Given the description of an element on the screen output the (x, y) to click on. 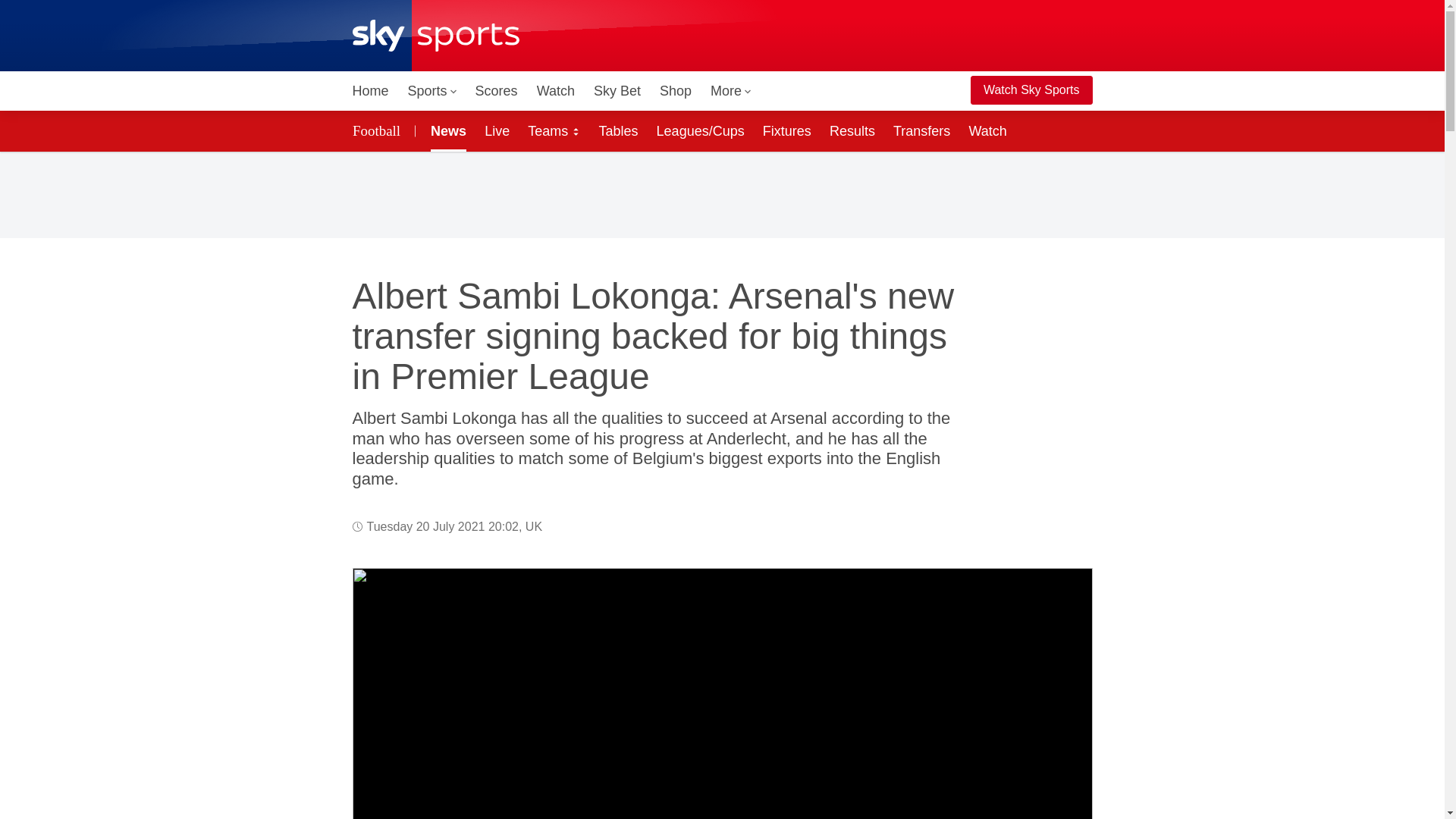
Teams (553, 130)
Shop (675, 91)
News (445, 130)
Sky Bet (616, 91)
Watch (555, 91)
Scores (496, 91)
Football (378, 130)
Live (497, 130)
More (730, 91)
Watch Sky Sports (1032, 90)
